Given the description of an element on the screen output the (x, y) to click on. 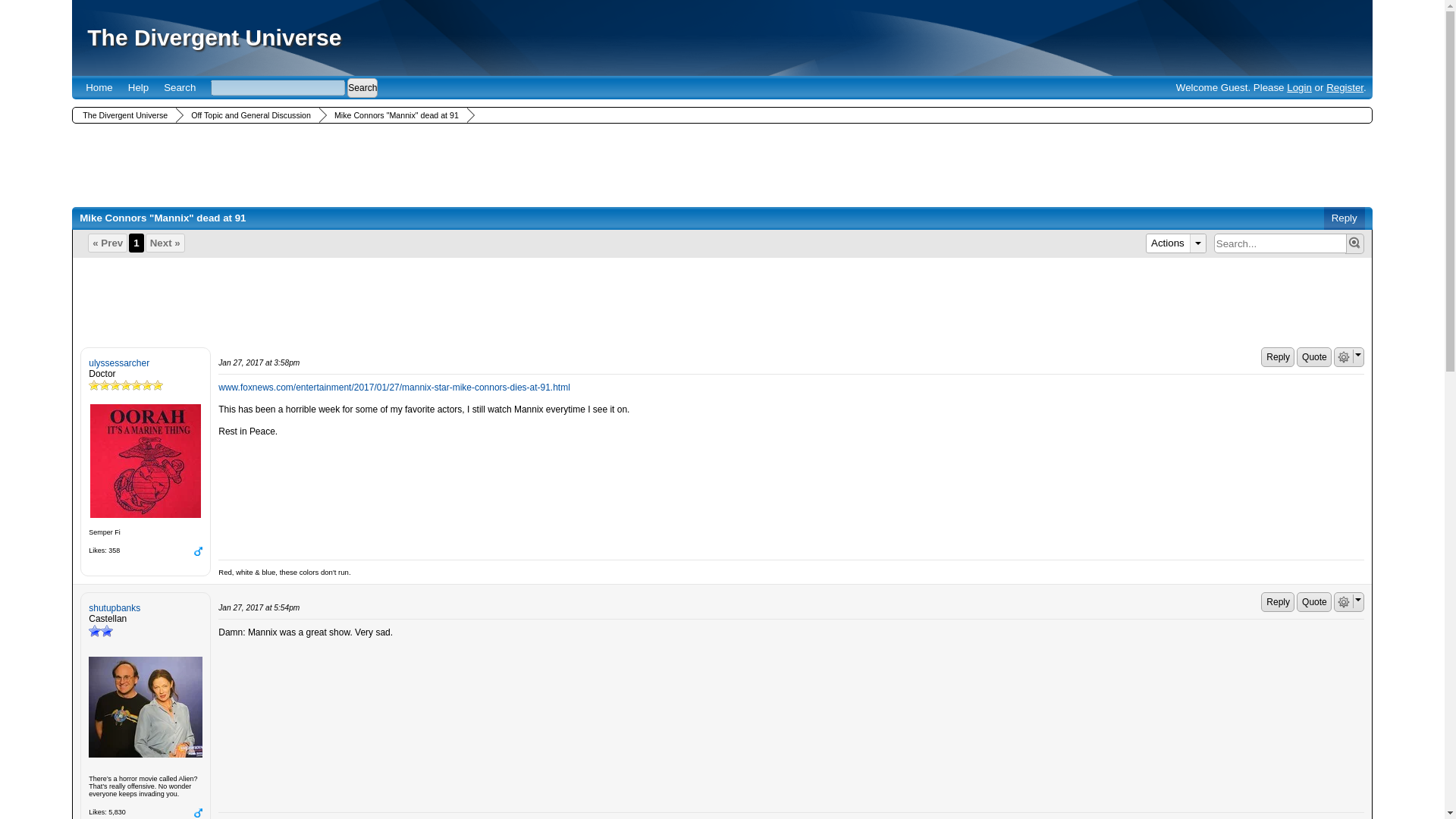
The Divergent Universe (122, 114)
Off Topic and General Discussion (248, 114)
The Divergent Universe (213, 37)
Login (1299, 87)
Mike Connors "Mannix" dead at 91 (394, 114)
Search (294, 87)
Post Options (1343, 357)
shutupbanks (145, 706)
Post Options (1343, 602)
Search (362, 87)
ulyssessarcher (145, 460)
Search (179, 87)
Home (99, 87)
Help (137, 87)
